Given the description of an element on the screen output the (x, y) to click on. 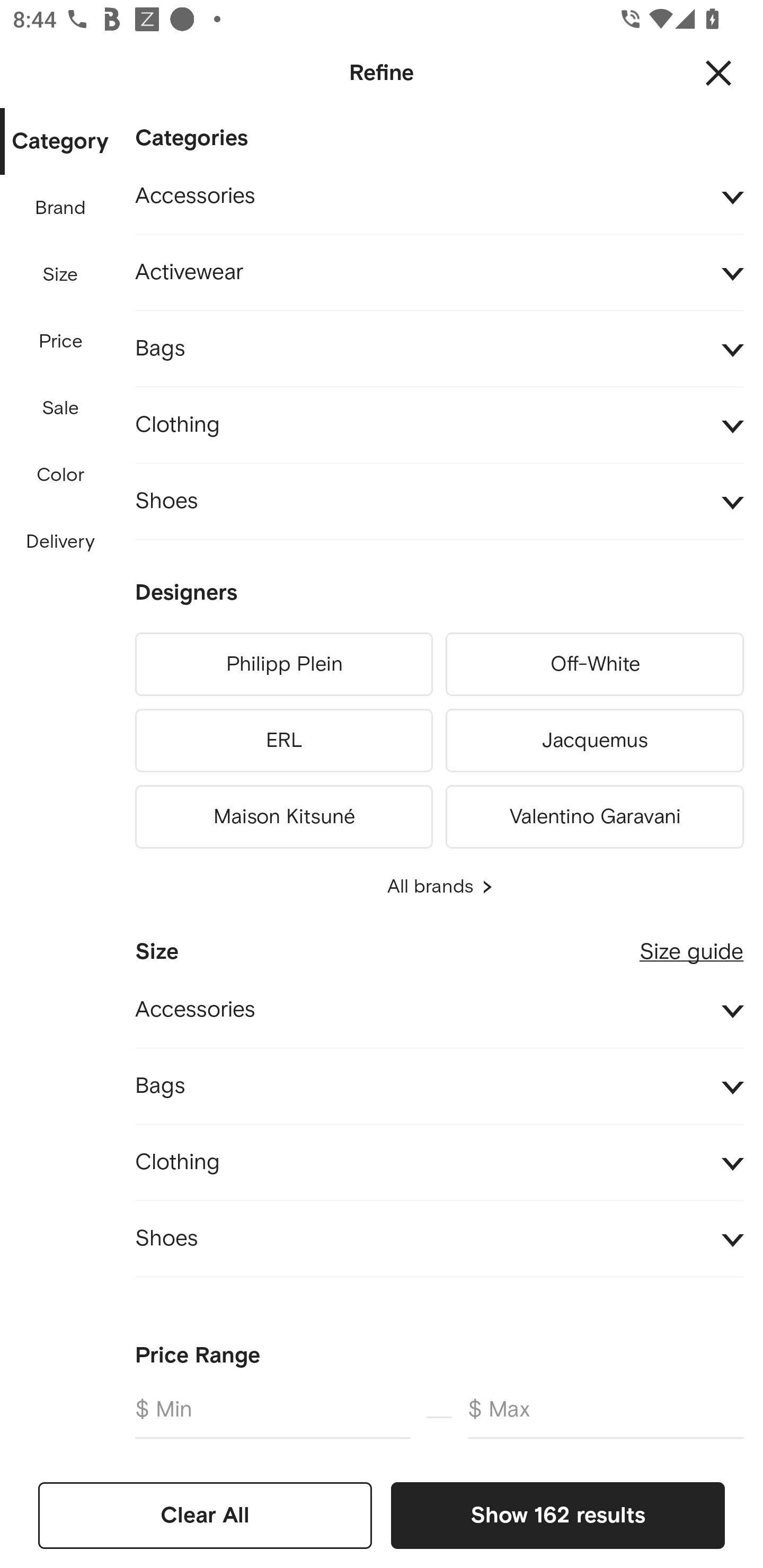
Category (60, 141)
Accessories (439, 196)
Brand (60, 208)
Activewear (439, 272)
Size (60, 274)
Price (60, 342)
Bags (439, 348)
Sale (60, 408)
Clothing (439, 425)
Color (60, 475)
Shoes (439, 501)
Delivery (60, 542)
Philipp Plein (283, 663)
Off-White (594, 663)
ERL (283, 740)
Jacquemus (594, 740)
Maison Kitsuné (283, 813)
Valentino Garavani (594, 813)
All brands (439, 886)
Size guide (691, 944)
Accessories (439, 1010)
Bags (439, 1086)
Clothing (439, 1162)
Shoes (439, 1239)
$ Min (272, 1416)
$ Max (605, 1416)
Clear All (205, 1515)
Show 162 results (557, 1515)
